Given the description of an element on the screen output the (x, y) to click on. 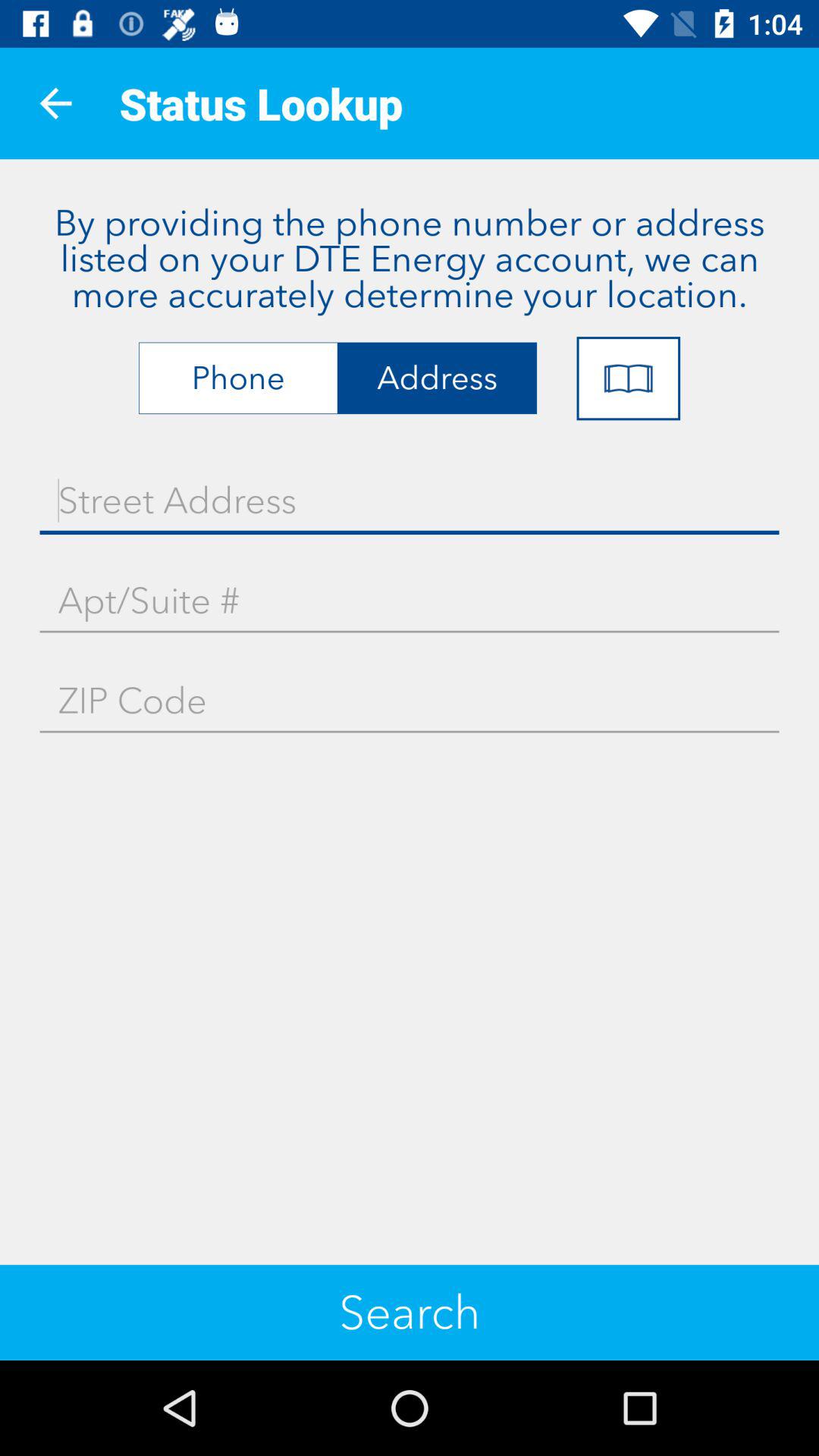
swipe to search (409, 1312)
